Given the description of an element on the screen output the (x, y) to click on. 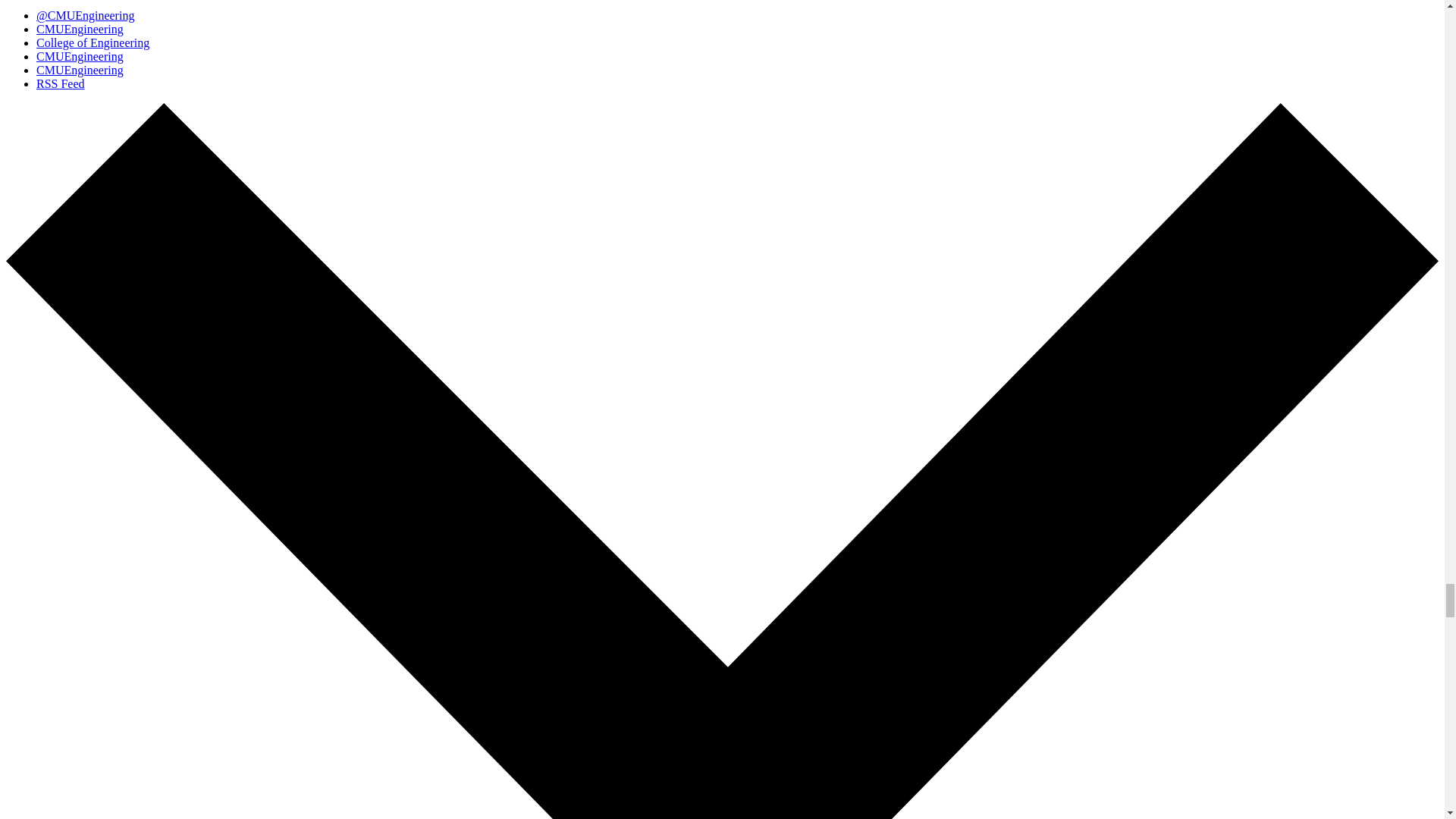
CMUEngineering (79, 29)
College of Engineering (92, 42)
CMUEngineering (79, 56)
RSS Feed (60, 83)
CMUEngineering (79, 69)
